Given the description of an element on the screen output the (x, y) to click on. 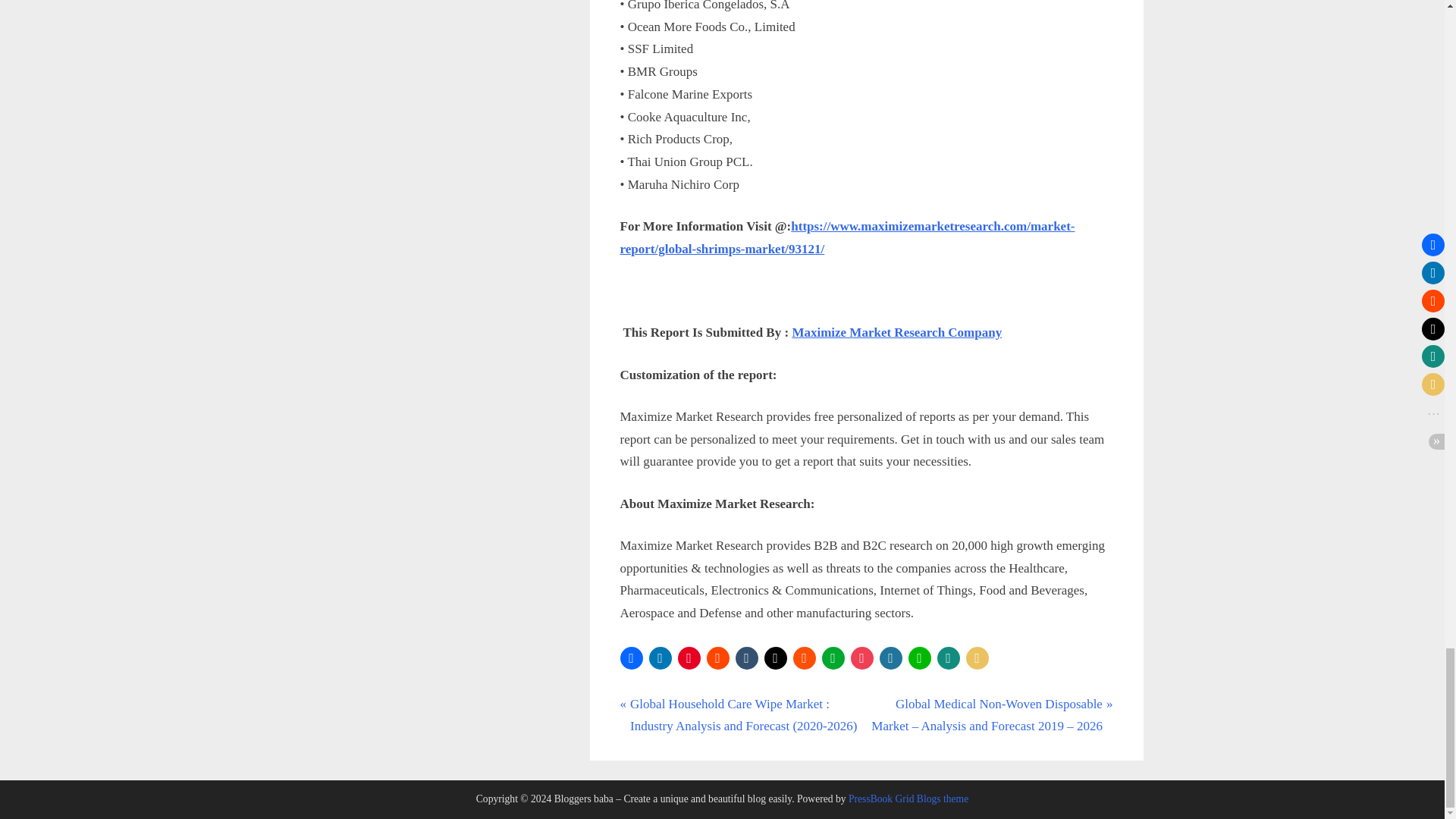
Maximize Market Research Company (896, 332)
